Given the description of an element on the screen output the (x, y) to click on. 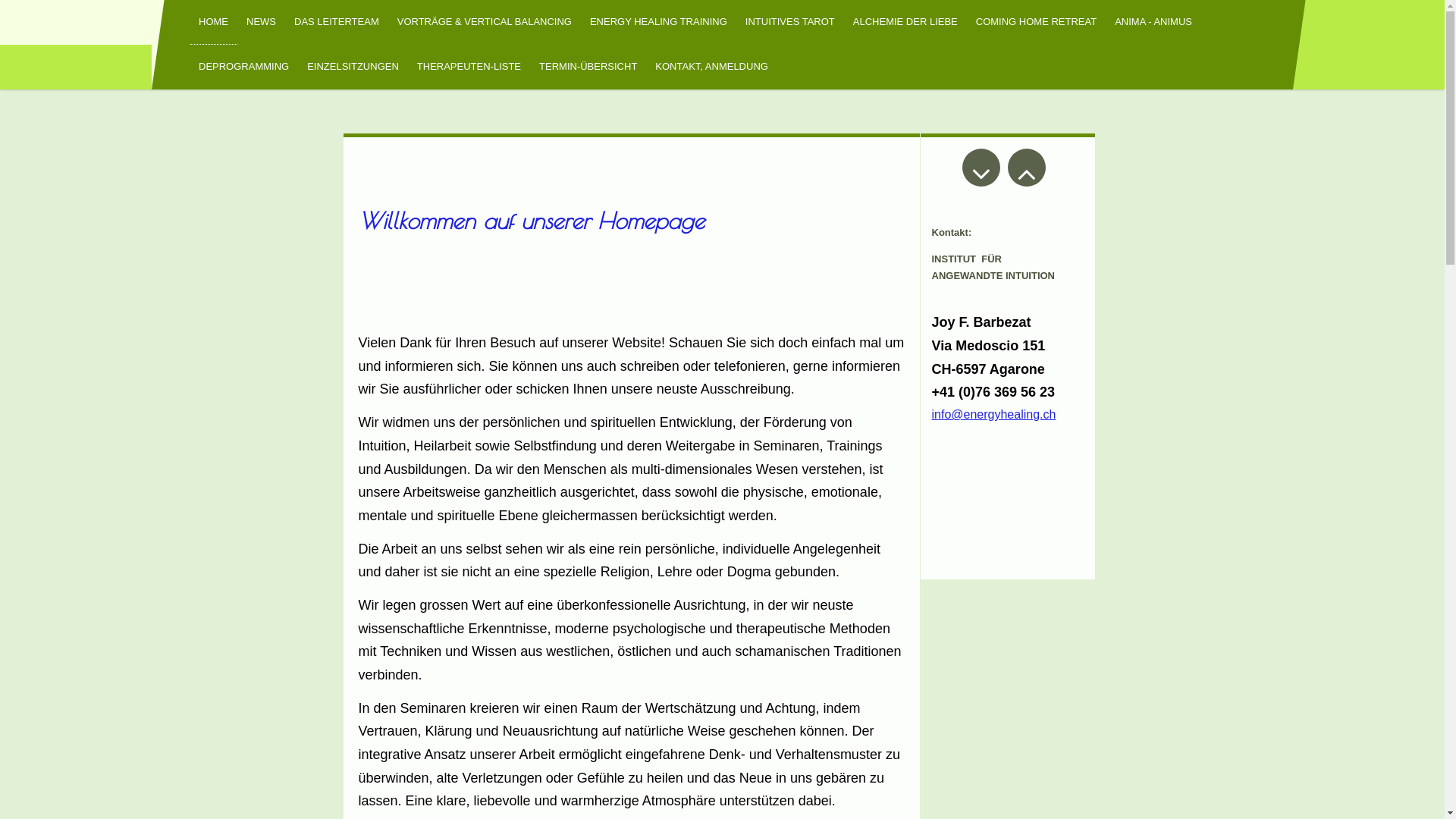
COMING HOME RETREAT Element type: text (1035, 22)
THERAPEUTEN-LISTE Element type: text (468, 66)
HOME Element type: text (213, 22)
ALCHEMIE DER LIEBE Element type: text (905, 22)
ANIMA - ANIMUS Element type: text (1153, 22)
INTUITIVES TAROT Element type: text (790, 22)
NEWS Element type: text (261, 22)
DEPROGRAMMING Element type: text (243, 66)
KONTAKT, ANMELDUNG Element type: text (711, 66)
DAS LEITERTEAM Element type: text (336, 22)
EINZELSITZUNGEN Element type: text (352, 66)
info@energyhealing.ch Element type: text (993, 413)
ENERGY HEALING TRAINING Element type: text (658, 22)
